Given the description of an element on the screen output the (x, y) to click on. 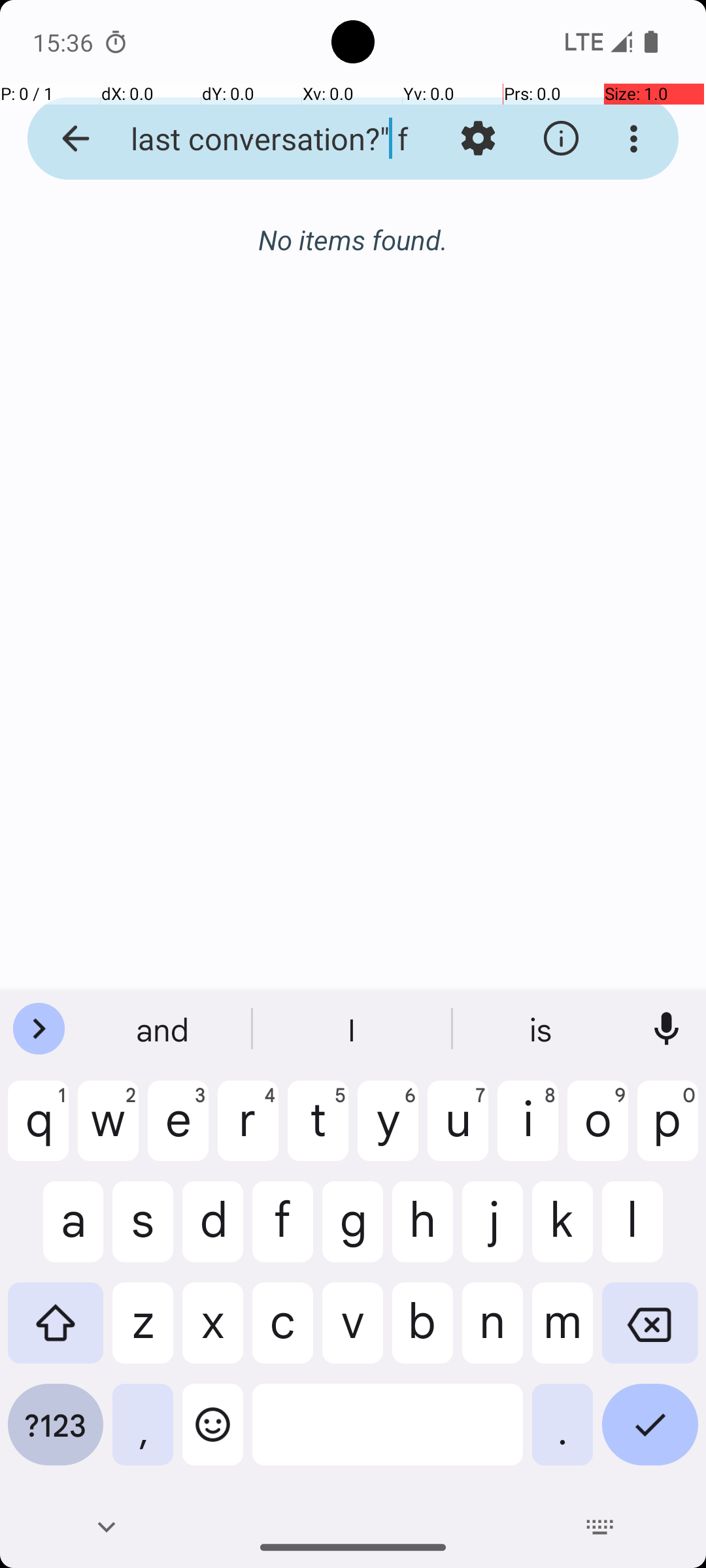
message"Hey Lily, do you remember our last conversation?" from Lily Element type: android.widget.EditText (252, 138)
Lily Alves Element type: android.widget.TextView (408, 237)
and Element type: android.widget.FrameLayout (163, 1028)
is Element type: android.widget.FrameLayout (541, 1028)
